Given the description of an element on the screen output the (x, y) to click on. 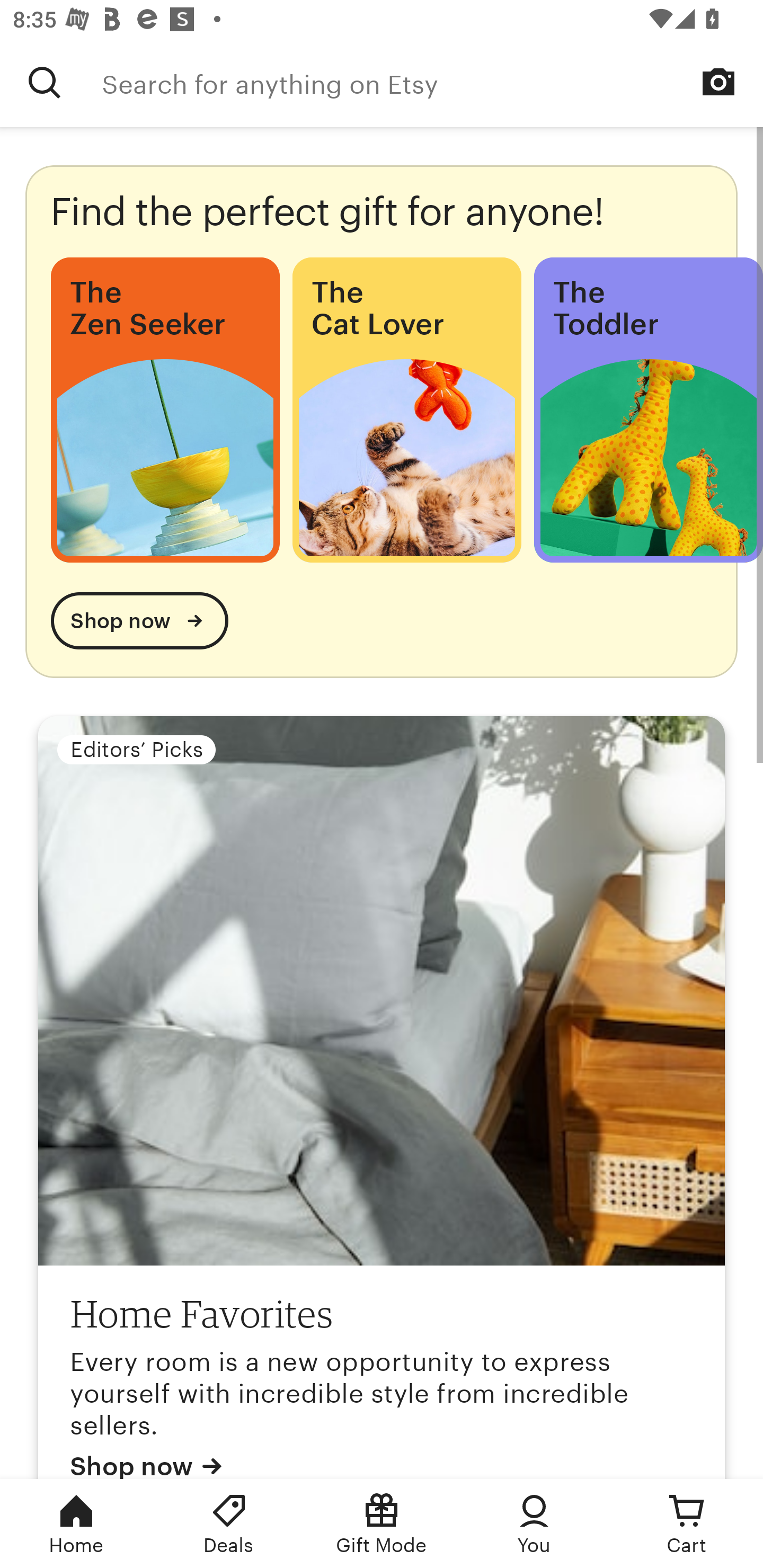
Search for anything on Etsy (44, 82)
Search by image (718, 81)
Search for anything on Etsy (432, 82)
Find the perfect gift for anyone! Shop now (381, 420)
The Zen Seeker (165, 409)
The Cat Lover (406, 409)
The Toddler (648, 409)
Shop now (139, 620)
Deals (228, 1523)
Gift Mode (381, 1523)
You (533, 1523)
Cart (686, 1523)
